Given the description of an element on the screen output the (x, y) to click on. 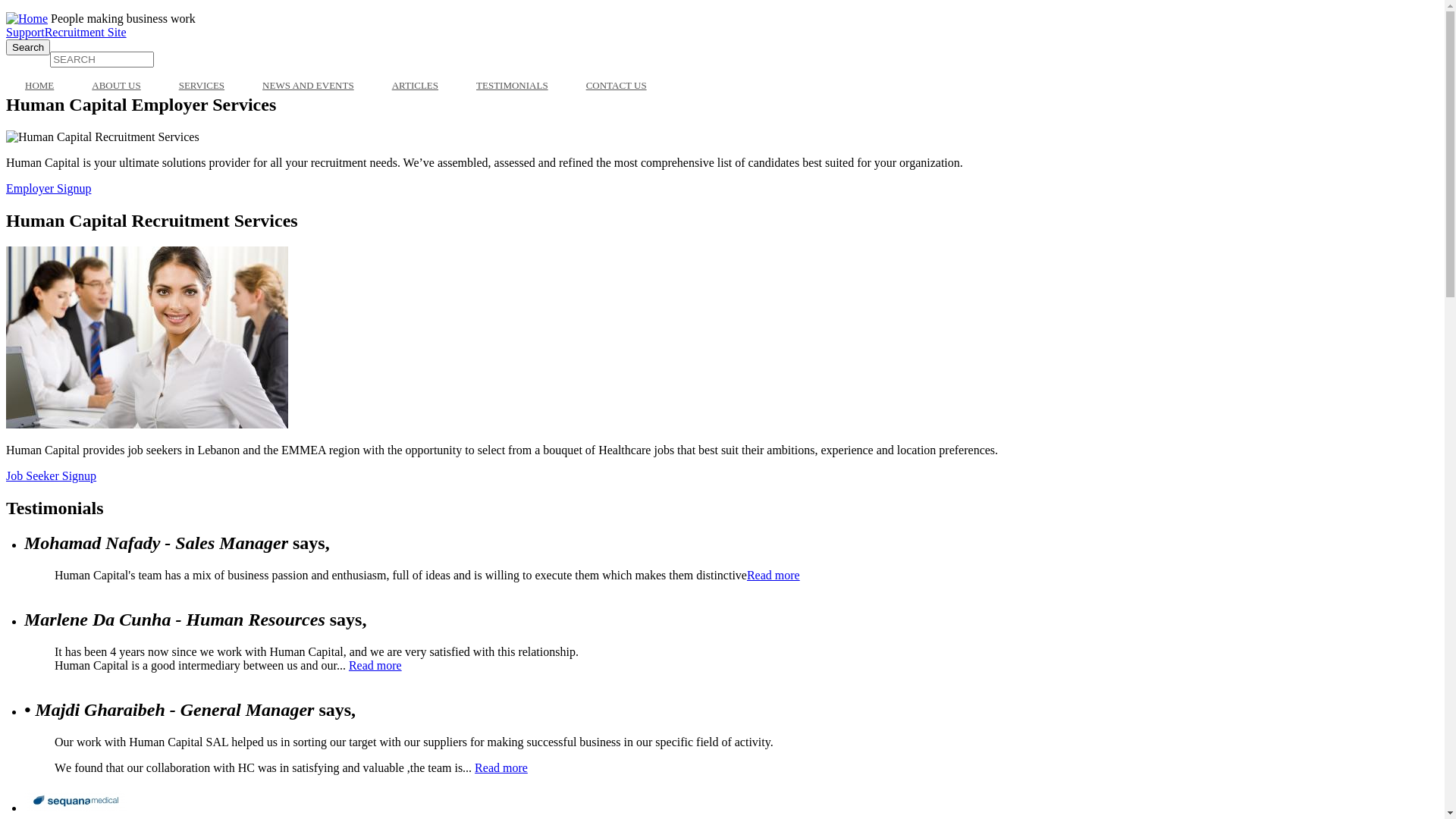
Job Seeker Signup Element type: text (51, 475)
SERVICES Element type: text (201, 85)
HOME Element type: text (39, 85)
Read more Element type: text (500, 767)
Home Element type: hover (26, 18)
Support Element type: text (25, 31)
Human Capital Recruitment Services Element type: hover (102, 137)
ABOUT US Element type: text (115, 85)
Jump to navigation Element type: text (52, 12)
Recruitment Site Element type: text (85, 31)
Read more Element type: text (773, 574)
Human Capital Recruitment Services Element type: hover (147, 337)
NEWS AND EVENTS Element type: text (308, 85)
CONTACT US Element type: text (616, 85)
ARTICLES Element type: text (415, 85)
Read more Element type: text (374, 664)
Employer Signup Element type: text (48, 188)
Enter the terms you wish to search for. Element type: hover (101, 59)
TESTIMONIALS Element type: text (512, 85)
Search Element type: text (28, 47)
